Given the description of an element on the screen output the (x, y) to click on. 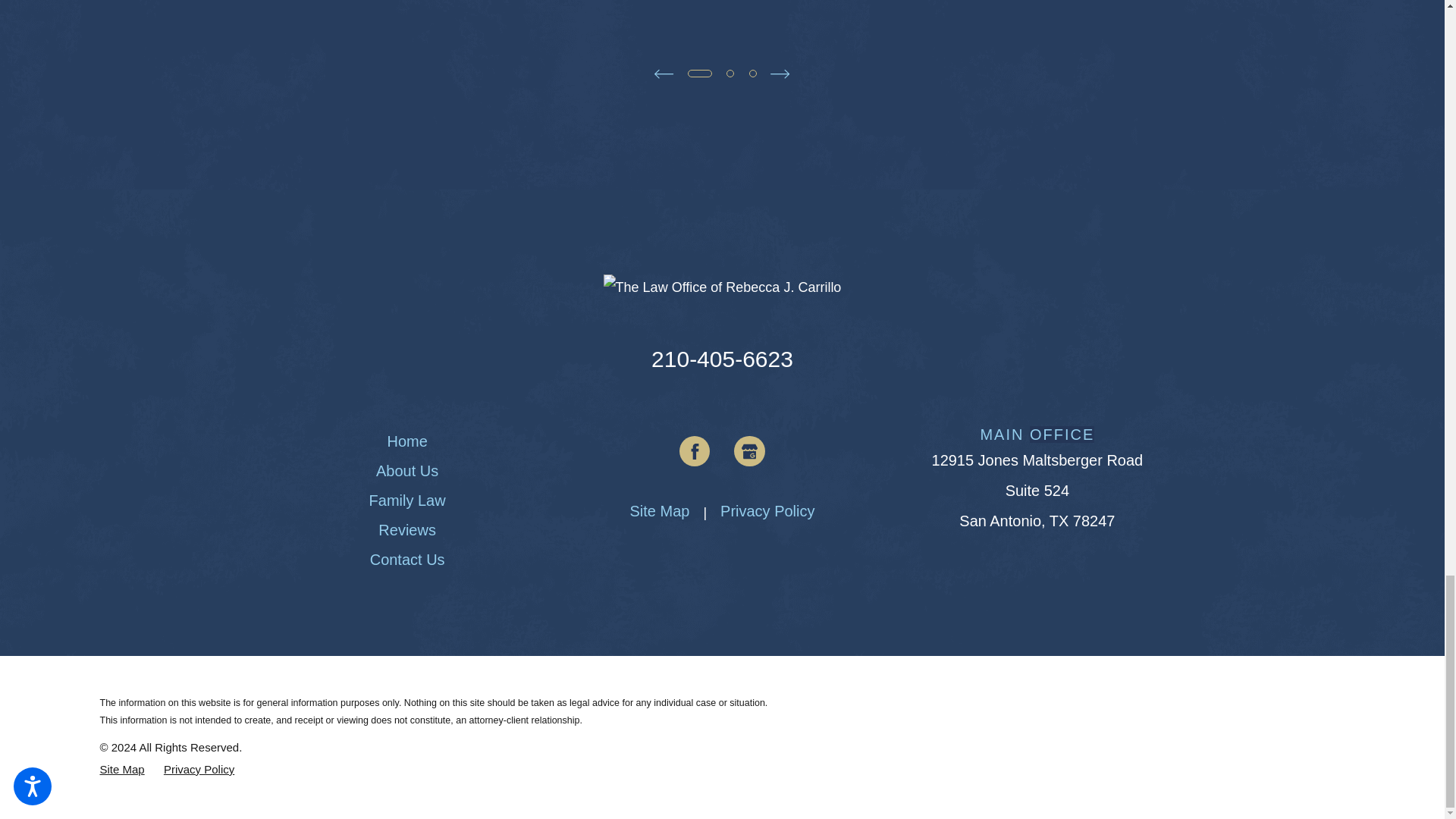
2018 client champion gold martindale Hubbell (255, 14)
Rising Stars (877, 14)
Super Lawyers 2019 (567, 14)
View previous item (662, 73)
Best S.A. Lawyers 2019 (1189, 14)
